Given the description of an element on the screen output the (x, y) to click on. 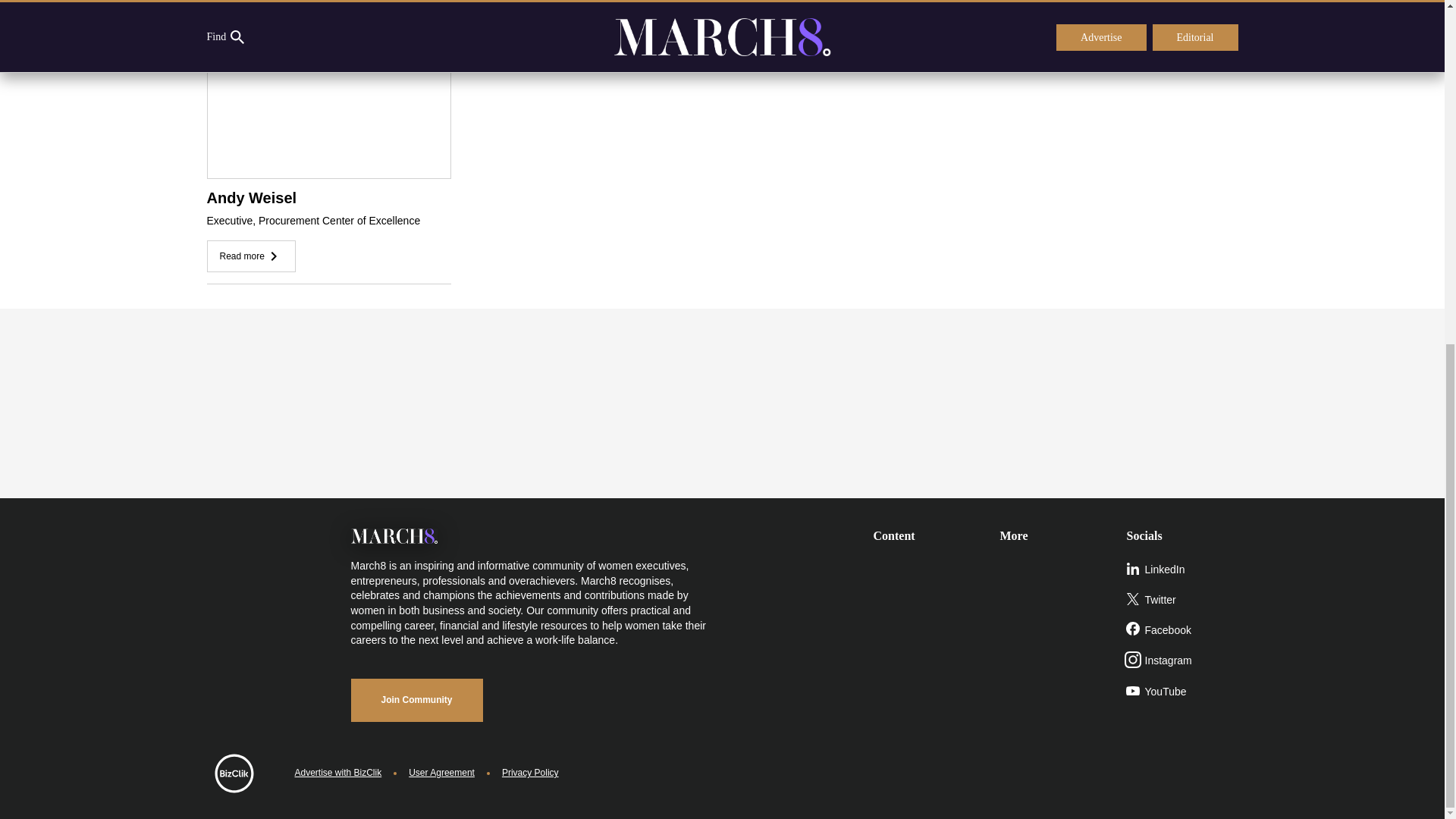
LinkedIn (1182, 570)
Advertise with BizClik (337, 772)
Privacy Policy (530, 772)
Join Community (415, 699)
Twitter (1182, 600)
Instagram (1182, 661)
User Agreement (441, 772)
Facebook (1182, 630)
YouTube (1182, 692)
